Given the description of an element on the screen output the (x, y) to click on. 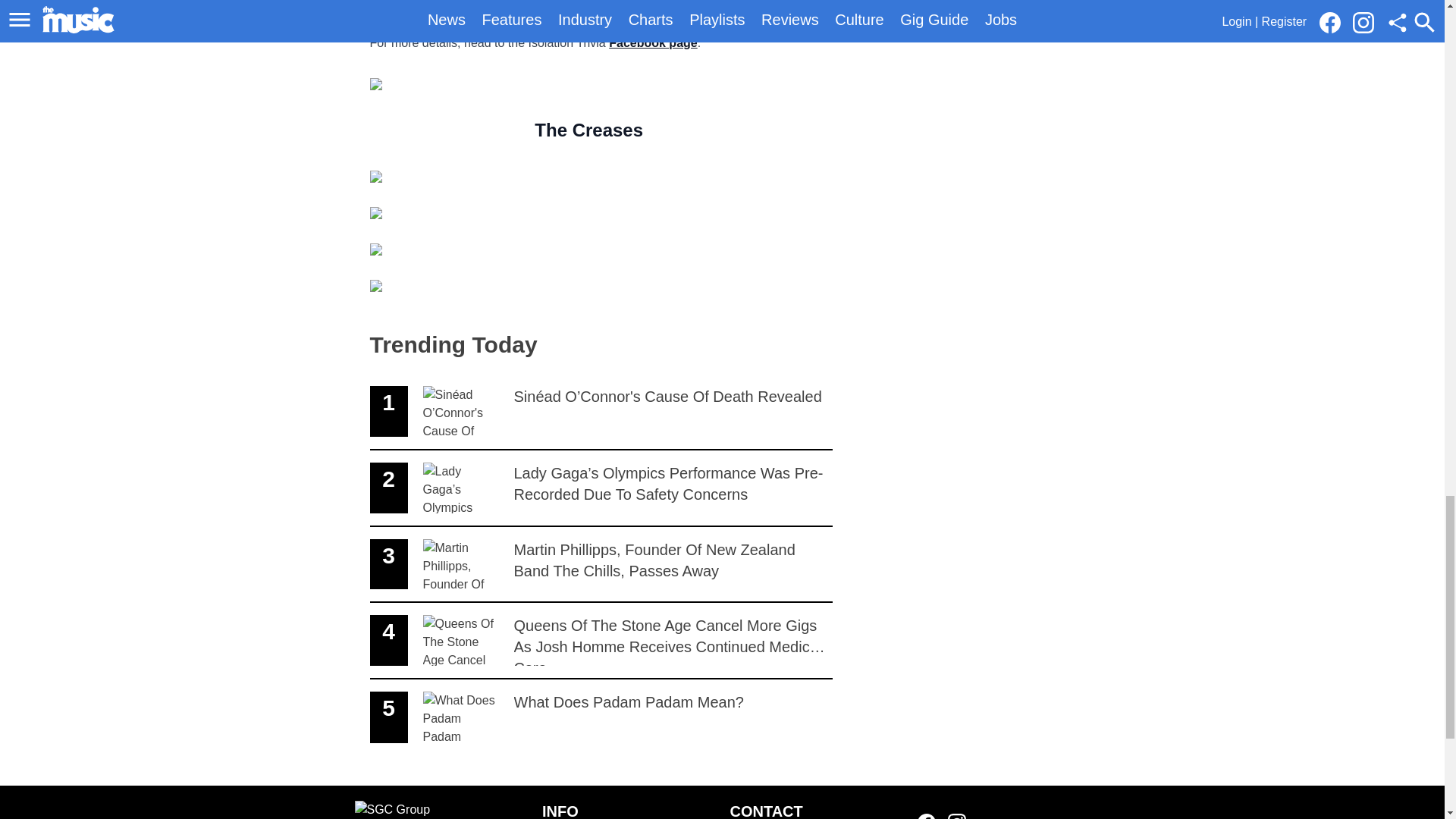
Facebook page (600, 717)
Link to our Instagram (652, 42)
Link to our Facebook (956, 816)
